Given the description of an element on the screen output the (x, y) to click on. 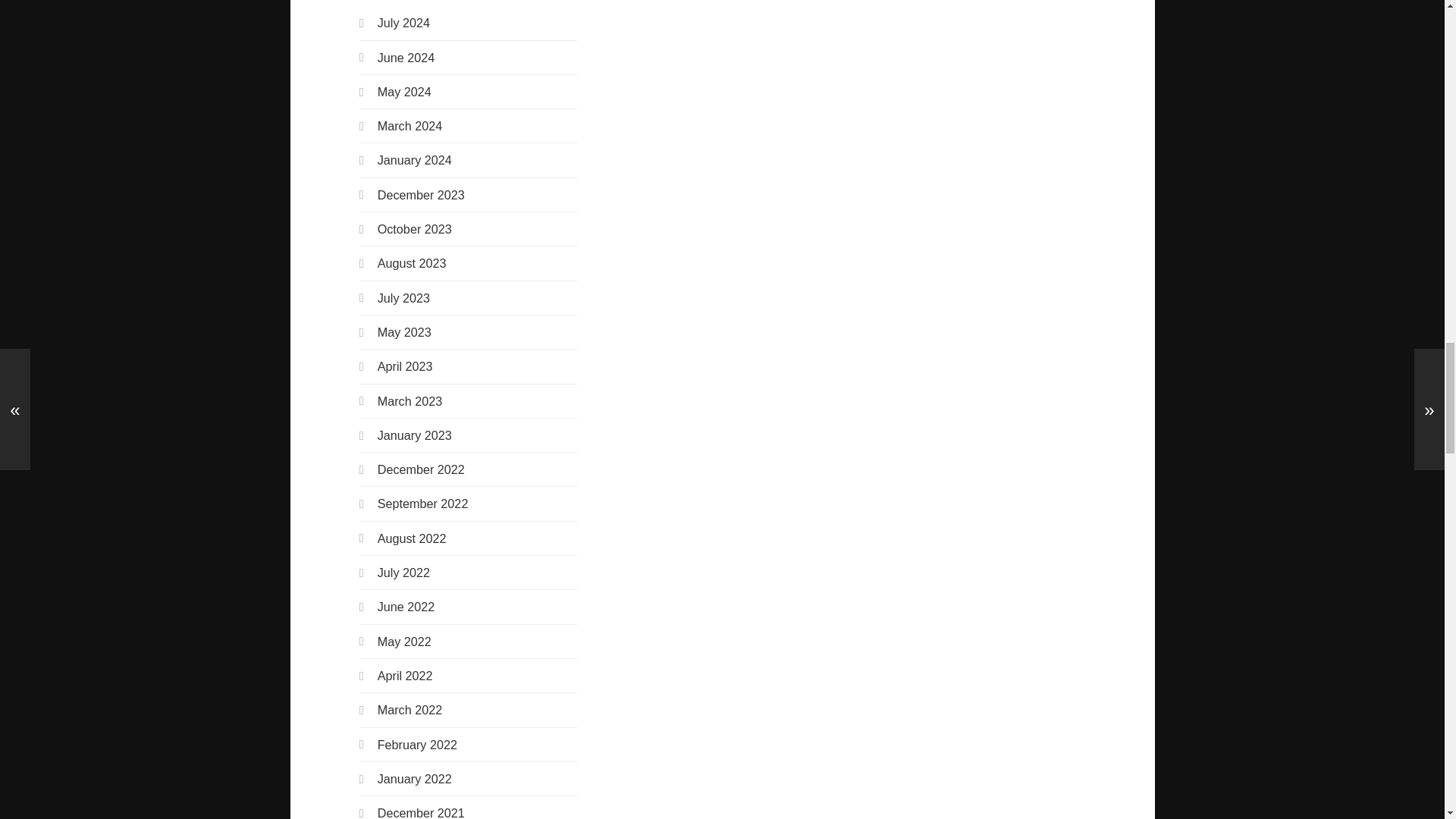
April 2023 (404, 366)
March 2023 (409, 400)
March 2024 (409, 125)
January 2024 (414, 160)
January 2023 (414, 435)
July 2024 (403, 22)
July 2023 (403, 297)
December 2023 (420, 194)
October 2023 (414, 228)
May 2024 (403, 91)
June 2024 (406, 57)
August 2023 (411, 263)
May 2023 (403, 332)
